Given the description of an element on the screen output the (x, y) to click on. 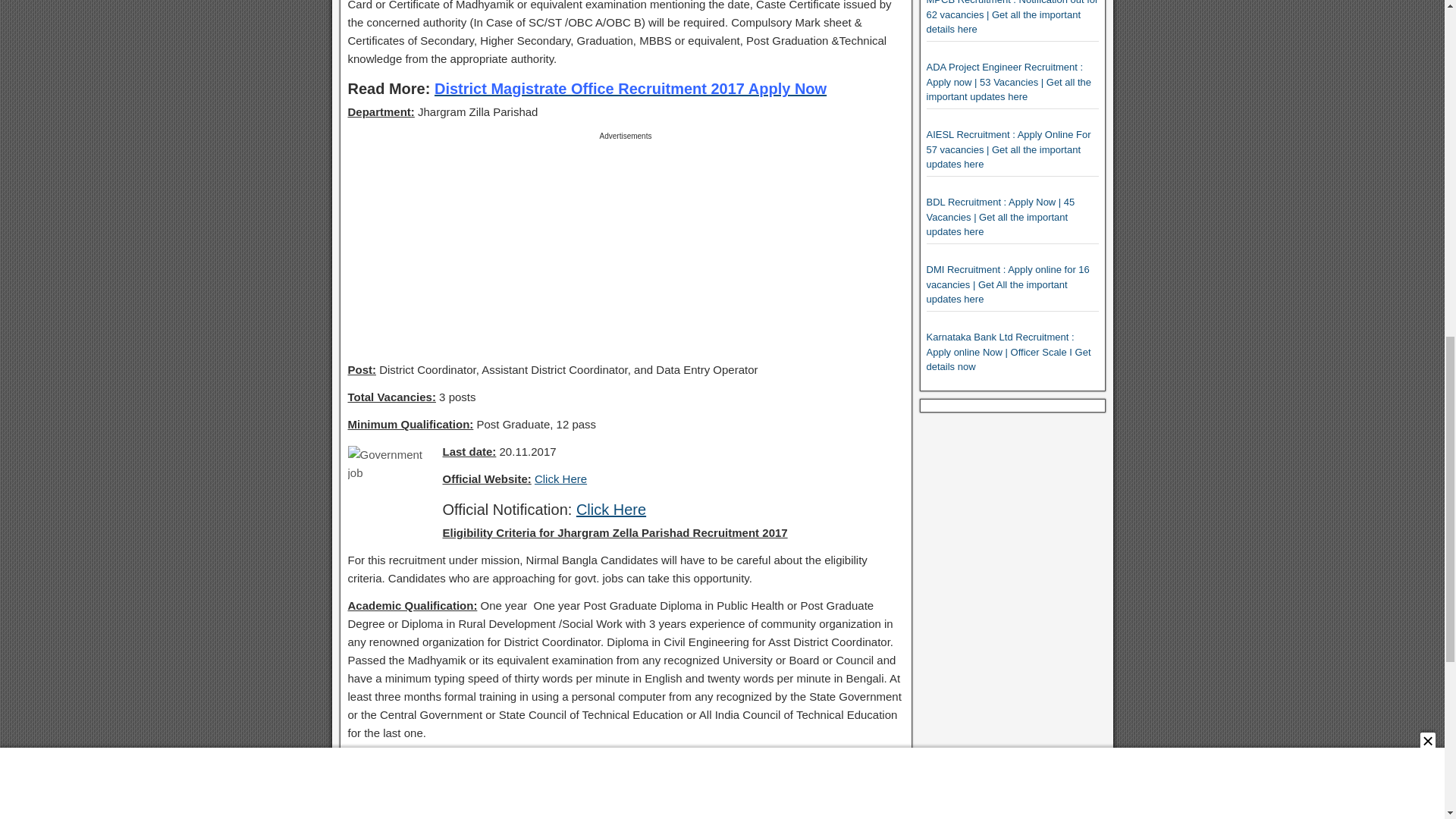
Click Here (611, 508)
District Magistrate Office Recruitment 2017 Apply Now (630, 88)
Click Here (560, 478)
